Given the description of an element on the screen output the (x, y) to click on. 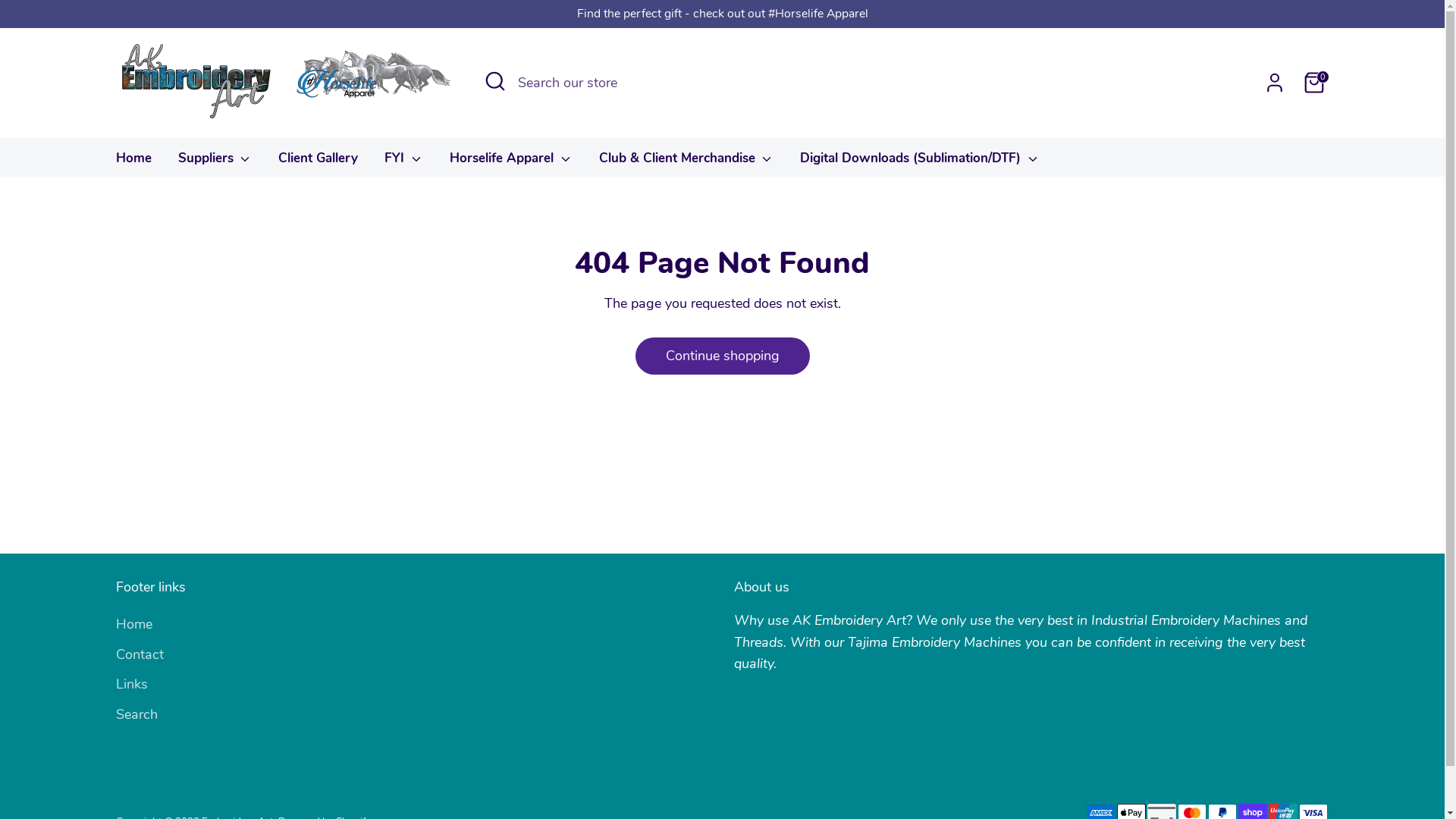
Contact Element type: text (139, 654)
Club & Client Merchandise Element type: text (686, 162)
FYI Element type: text (403, 162)
Home Element type: text (133, 624)
Client Gallery Element type: text (317, 162)
Horselife Apparel Element type: text (510, 162)
0 Element type: text (1313, 82)
Digital Downloads (Sublimation/DTF) Element type: text (919, 162)
Links Element type: text (131, 683)
Search Element type: text (135, 714)
Continue shopping Element type: text (721, 355)
Home Element type: text (133, 162)
Suppliers Element type: text (214, 162)
